Given the description of an element on the screen output the (x, y) to click on. 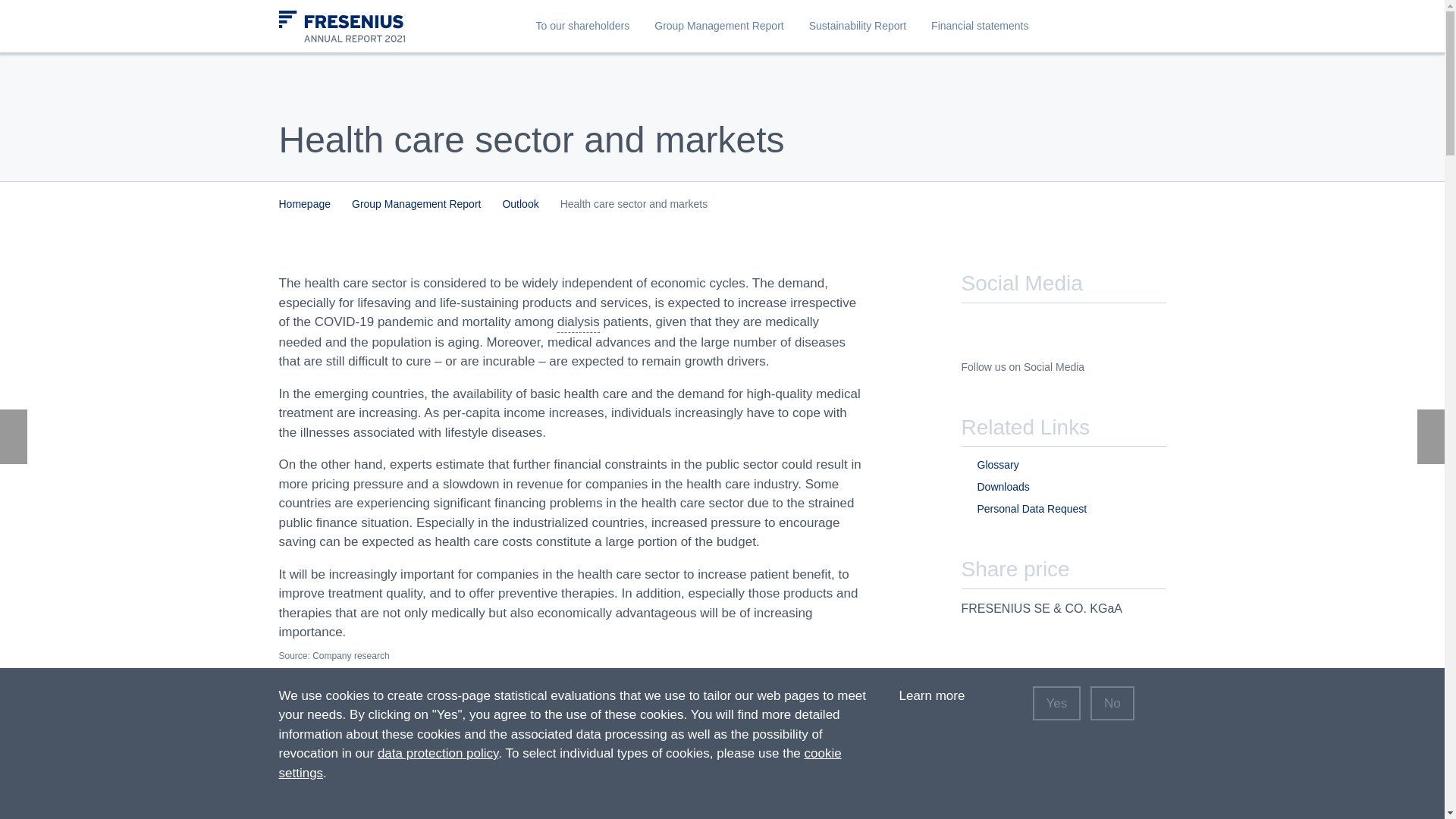
Startseite (357, 31)
To our shareholders (582, 26)
Learn more (941, 695)
Group Management Report (718, 26)
